Given the description of an element on the screen output the (x, y) to click on. 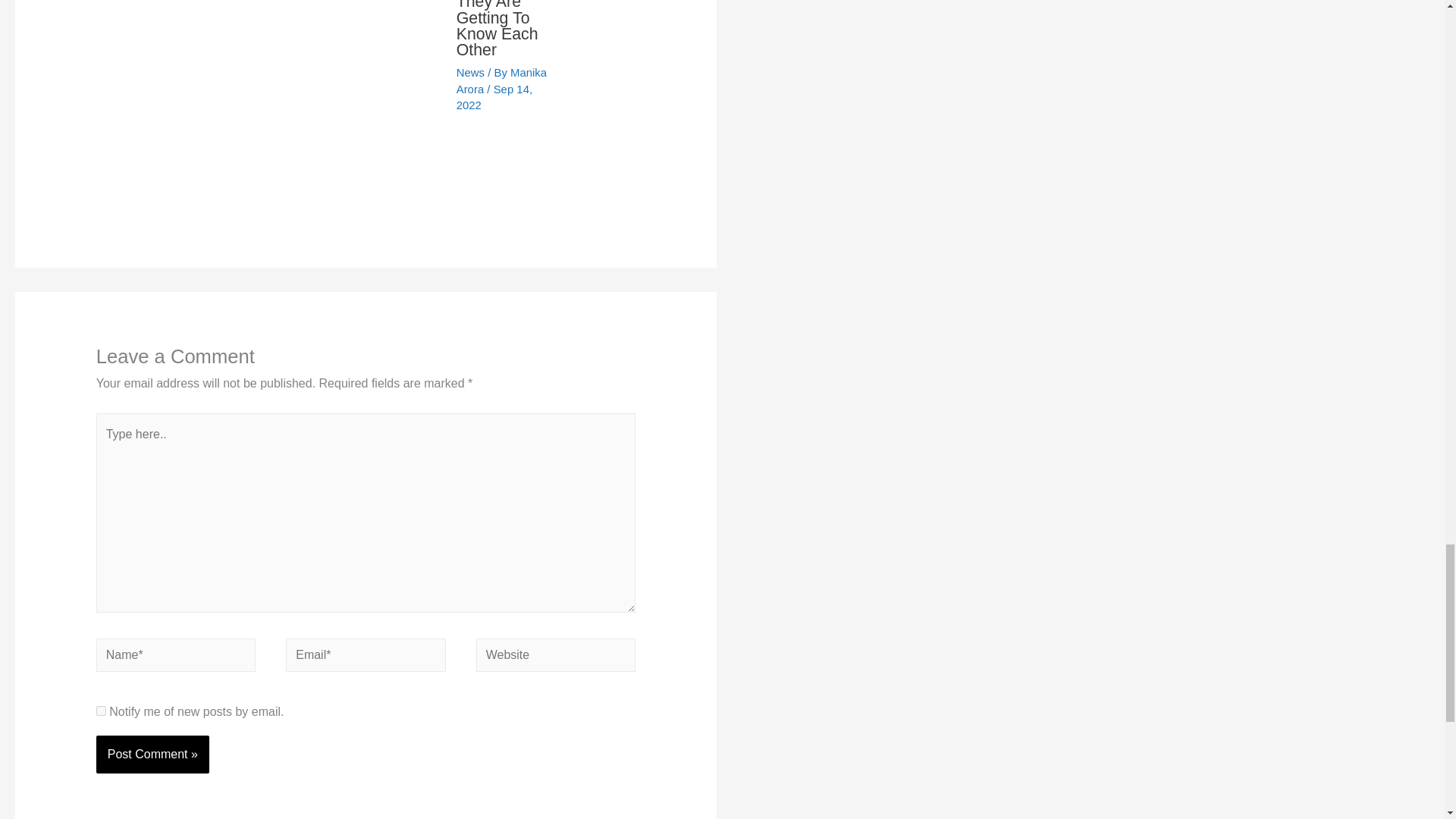
View all posts by Manika Arora (502, 80)
subscribe (101, 710)
